Given the description of an element on the screen output the (x, y) to click on. 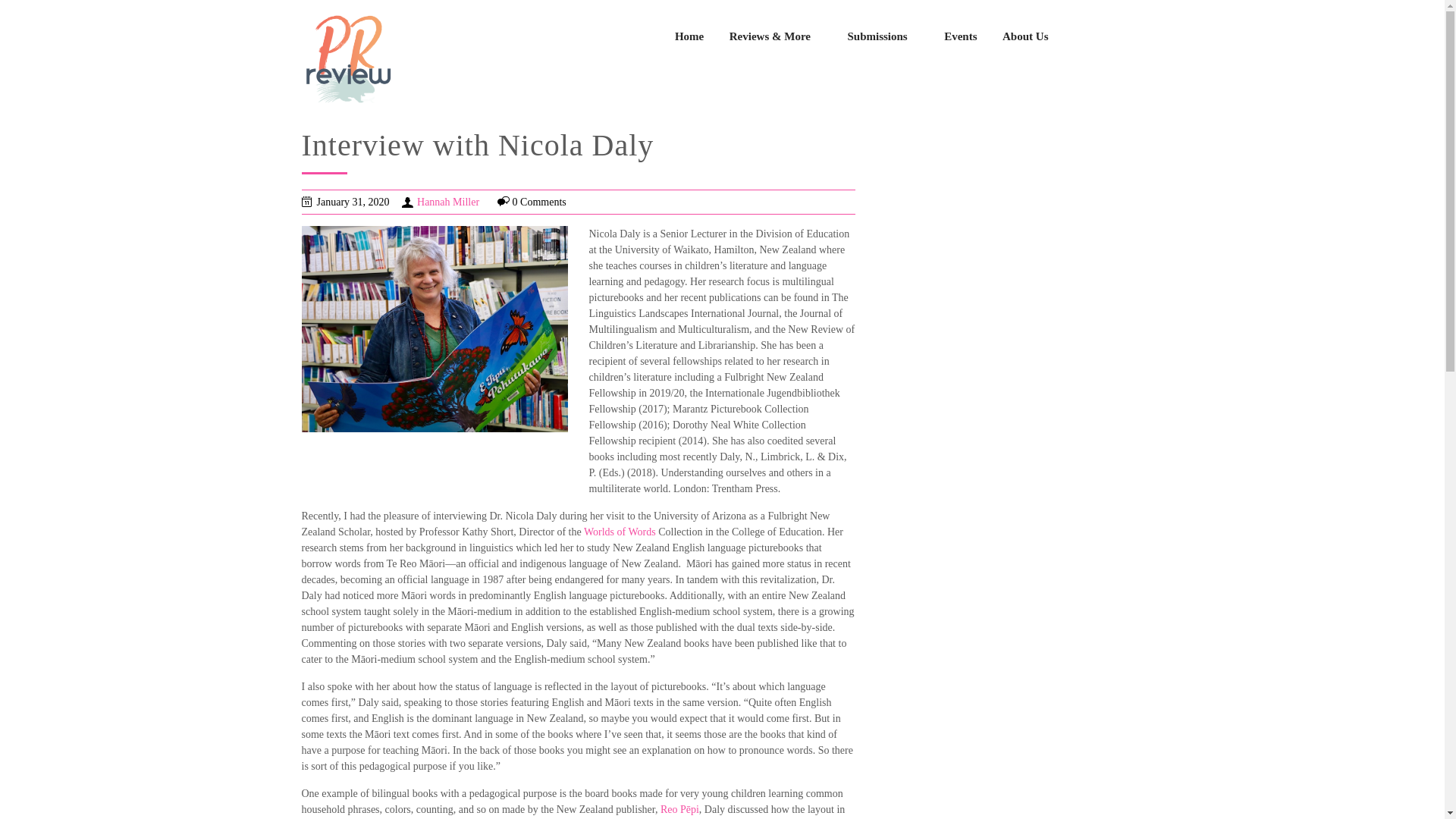
About Us (1031, 36)
Home (689, 36)
Events (959, 36)
Hannah Miller (447, 202)
Submissions (882, 36)
Worlds of Words (619, 531)
